Given the description of an element on the screen output the (x, y) to click on. 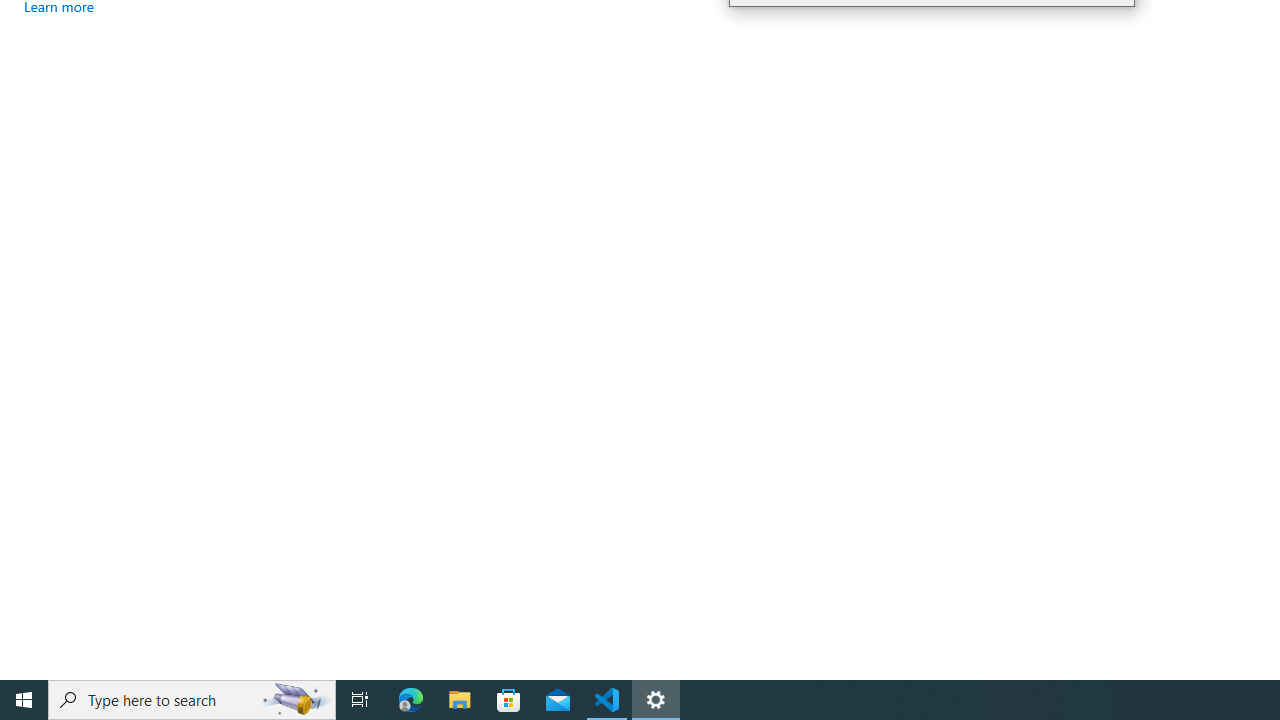
Start (24, 699)
Task View (359, 699)
Type here to search (191, 699)
File Explorer (460, 699)
Settings - 1 running window (656, 699)
Microsoft Edge (411, 699)
Search highlights icon opens search home window (295, 699)
Microsoft Store (509, 699)
Visual Studio Code - 1 running window (607, 699)
